Given the description of an element on the screen output the (x, y) to click on. 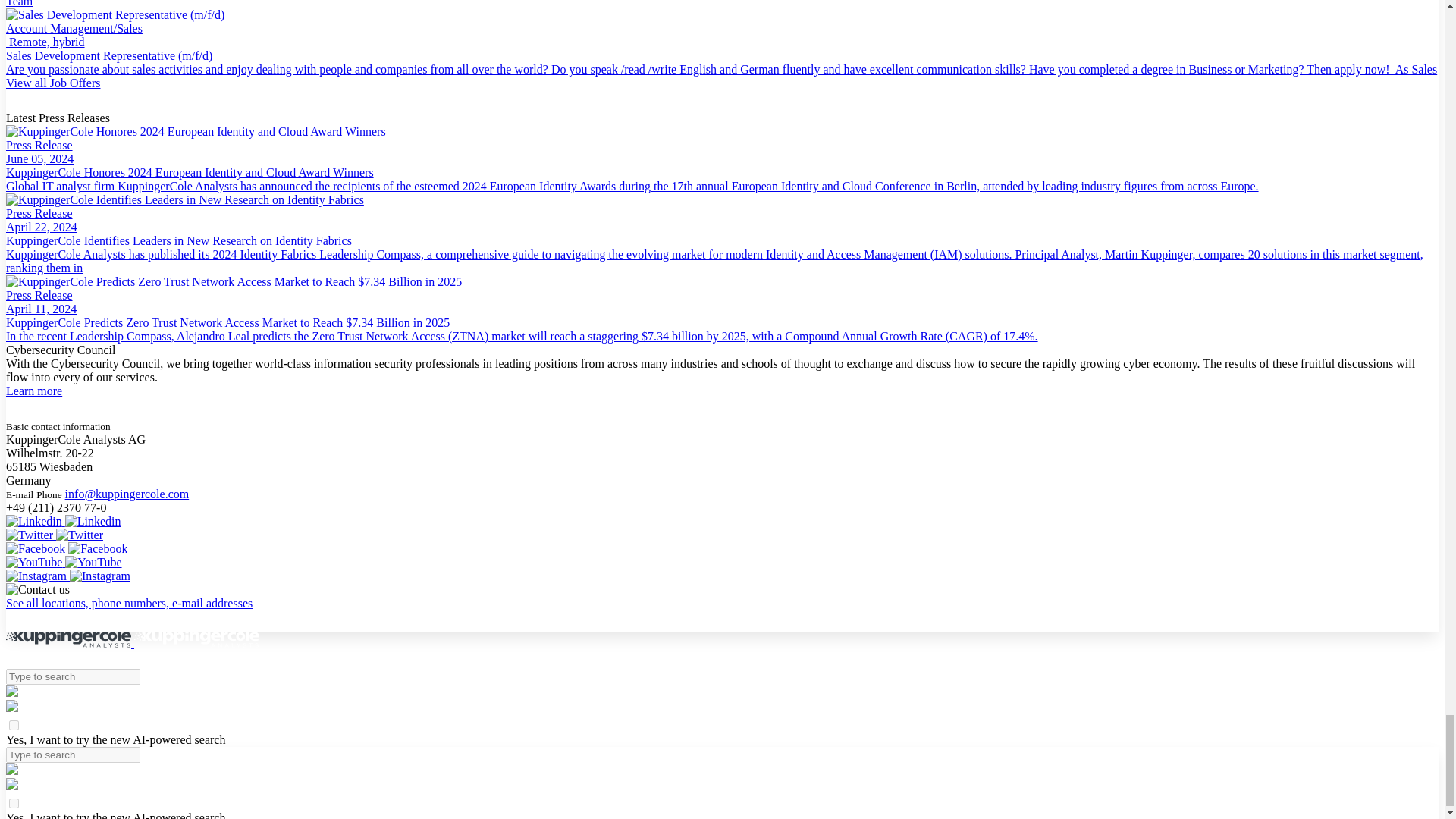
on (13, 725)
on (13, 803)
